Given the description of an element on the screen output the (x, y) to click on. 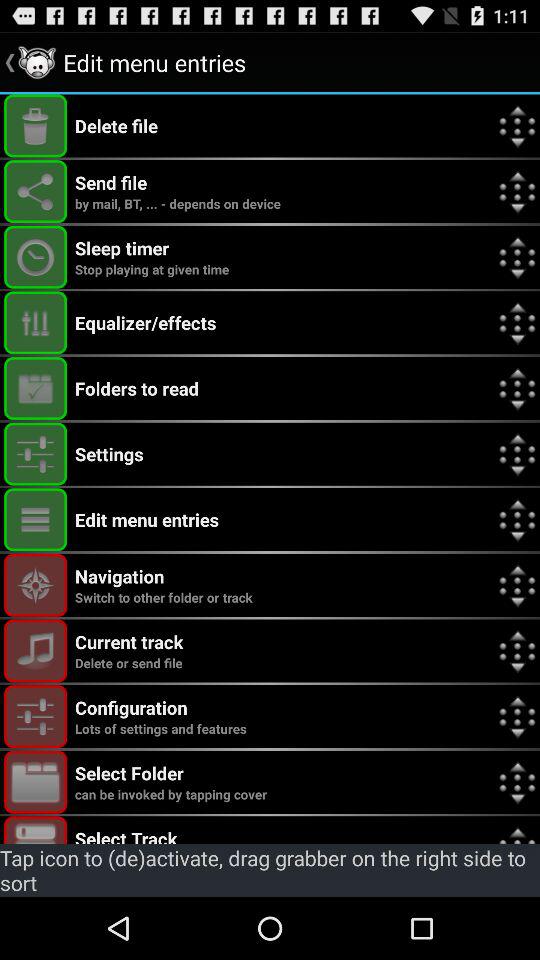
settings button (35, 453)
